Given the description of an element on the screen output the (x, y) to click on. 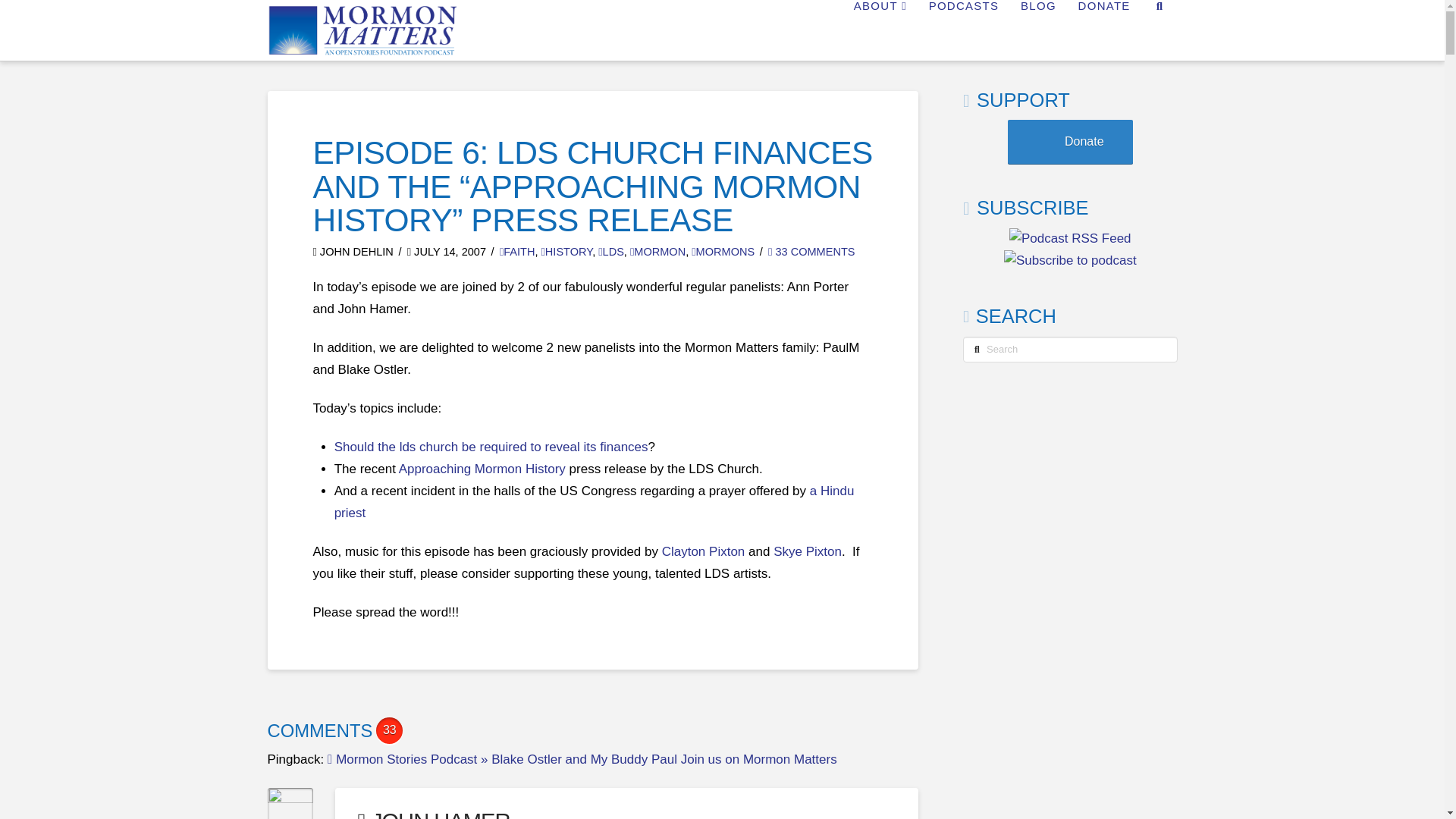
FAITH (517, 251)
33 COMMENTS (811, 251)
MORMONS (722, 251)
Should the lds church be required to reveal its finances (490, 446)
Clayton Pixton (703, 551)
a Hindu priest (594, 502)
PODCASTS (963, 30)
Approaching Mormon History (482, 468)
ABOUT (880, 30)
BLOG (1038, 30)
